Given the description of an element on the screen output the (x, y) to click on. 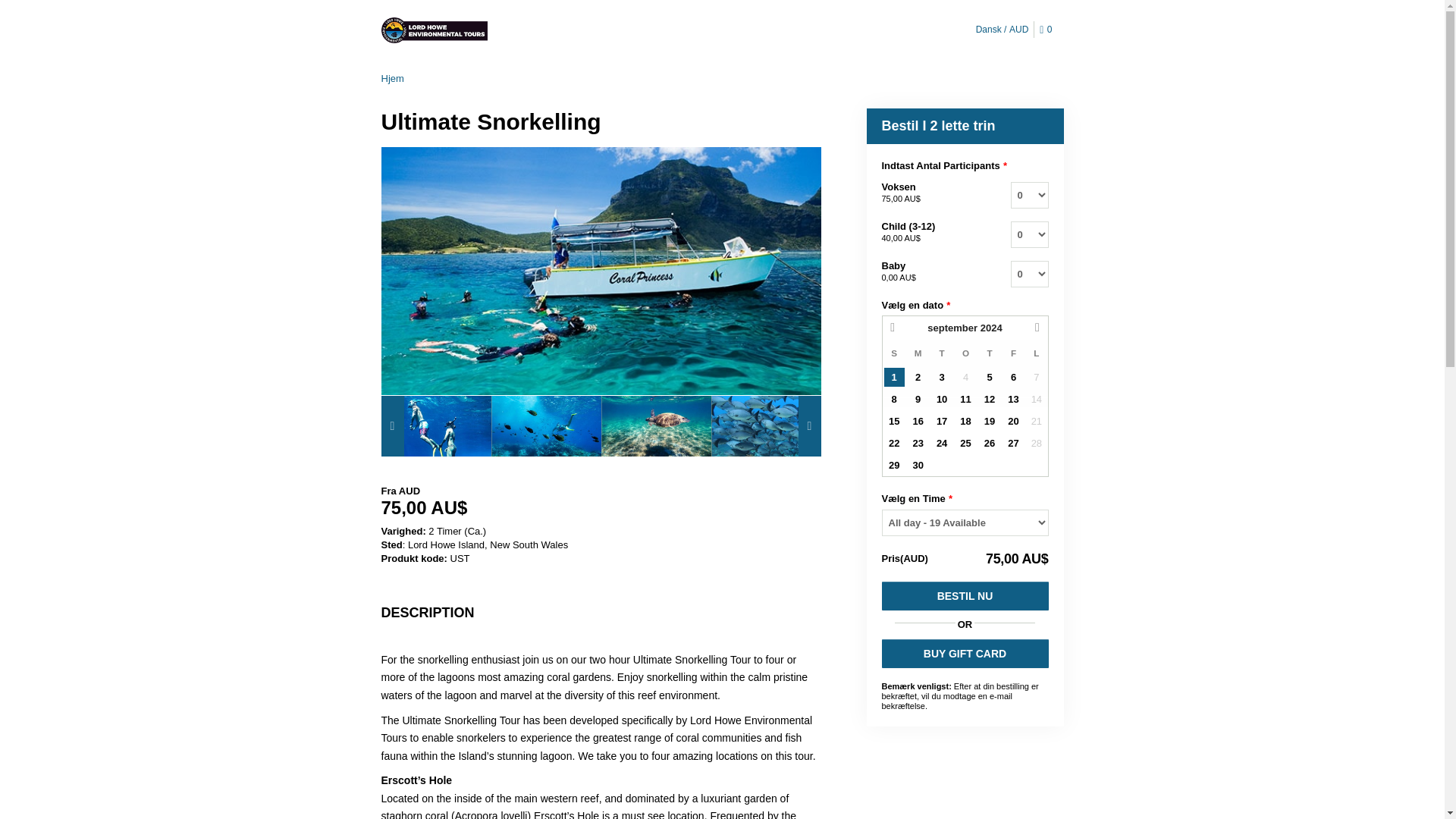
Available (1013, 377)
torsdag (989, 352)
Available (941, 377)
0 (1047, 30)
Estimated conversion from 75 (600, 507)
onsdag (965, 352)
tirsdag (941, 352)
Hjem (391, 78)
mandag (917, 352)
Dansk AUD (1003, 29)
Not available (964, 377)
Estimated conversion from 40 (900, 237)
Available (917, 377)
Available (988, 377)
Estimated conversion from 75 (900, 198)
